Given the description of an element on the screen output the (x, y) to click on. 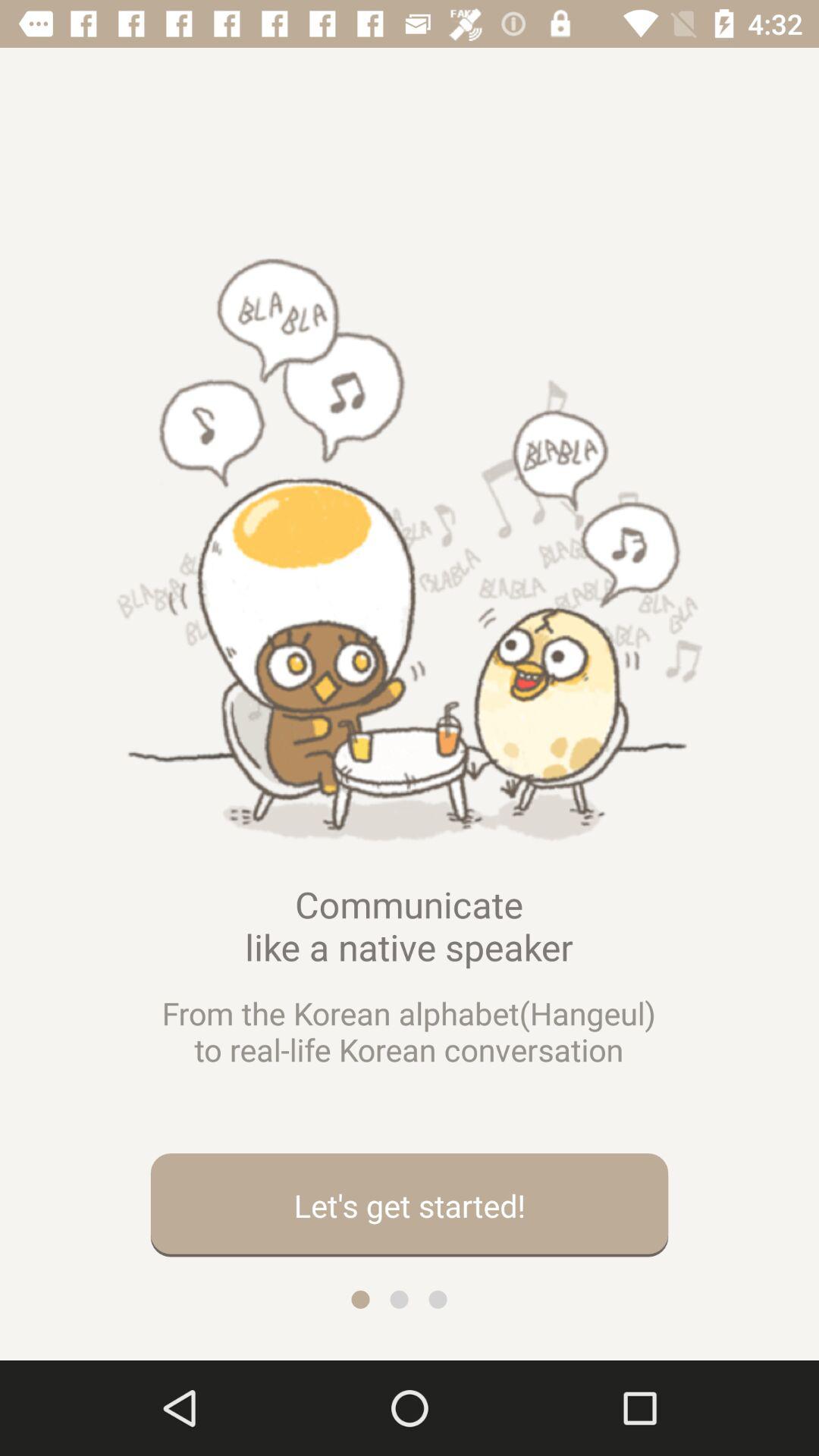
tap let s get button (409, 1204)
